Given the description of an element on the screen output the (x, y) to click on. 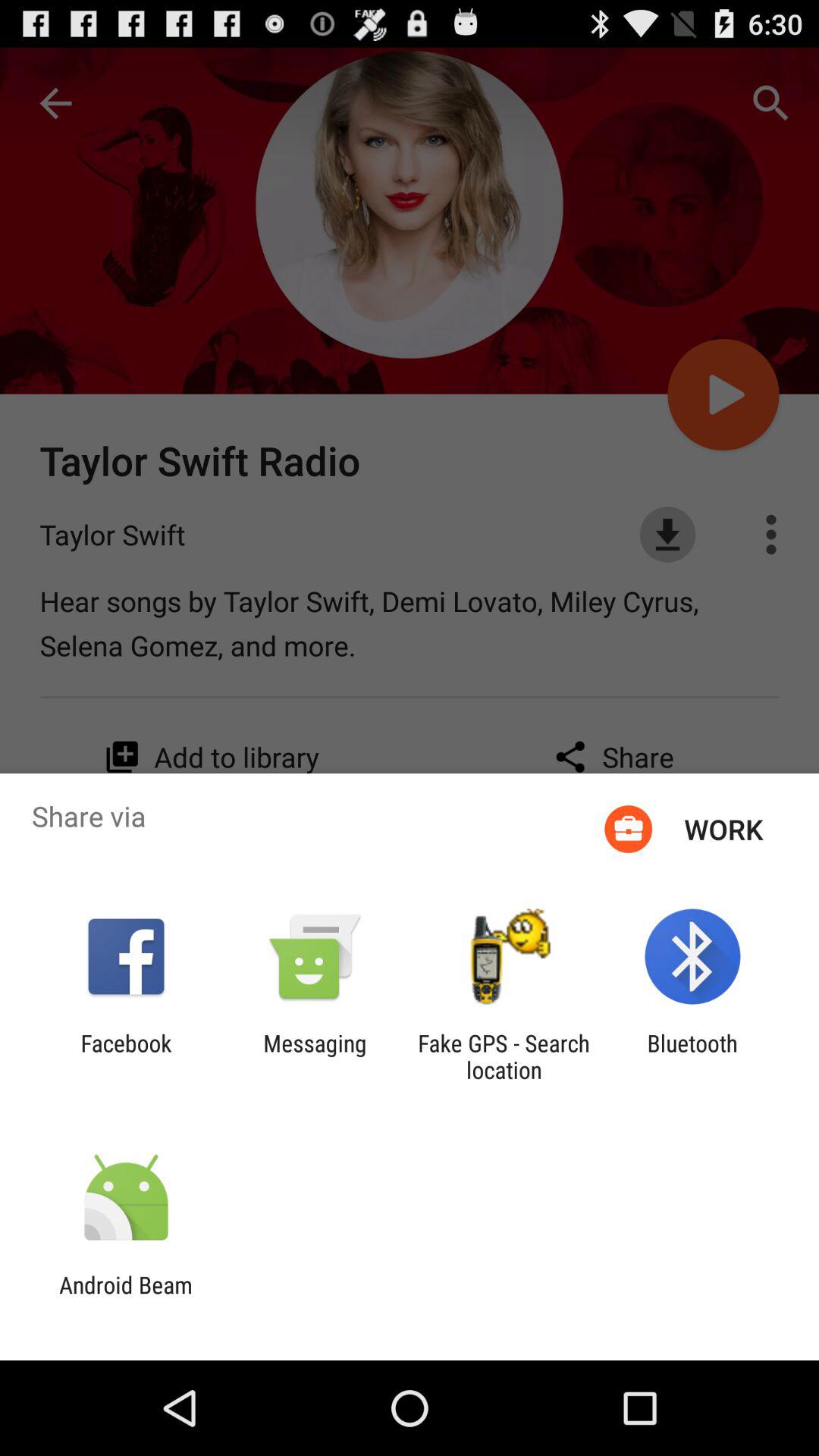
swipe until the android beam item (125, 1298)
